Given the description of an element on the screen output the (x, y) to click on. 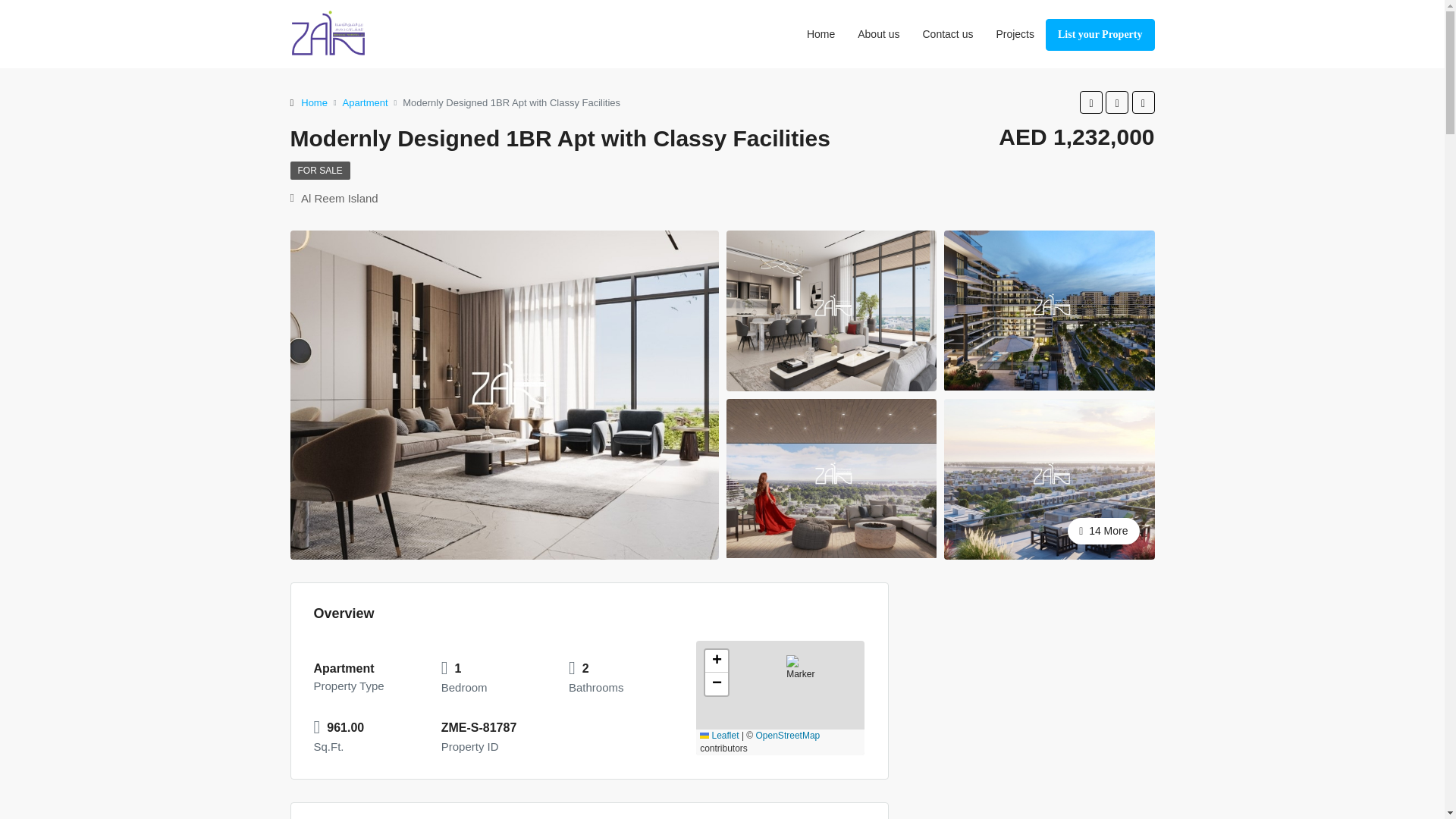
List your Property (1099, 34)
Projects (1014, 33)
A JavaScript library for interactive maps (719, 735)
About us (878, 33)
Home (314, 101)
Contact us (948, 33)
Zoom in (716, 661)
Apartment (365, 101)
FOR SALE (319, 170)
Zoom out (716, 683)
14 More (1048, 477)
